Given the description of an element on the screen output the (x, y) to click on. 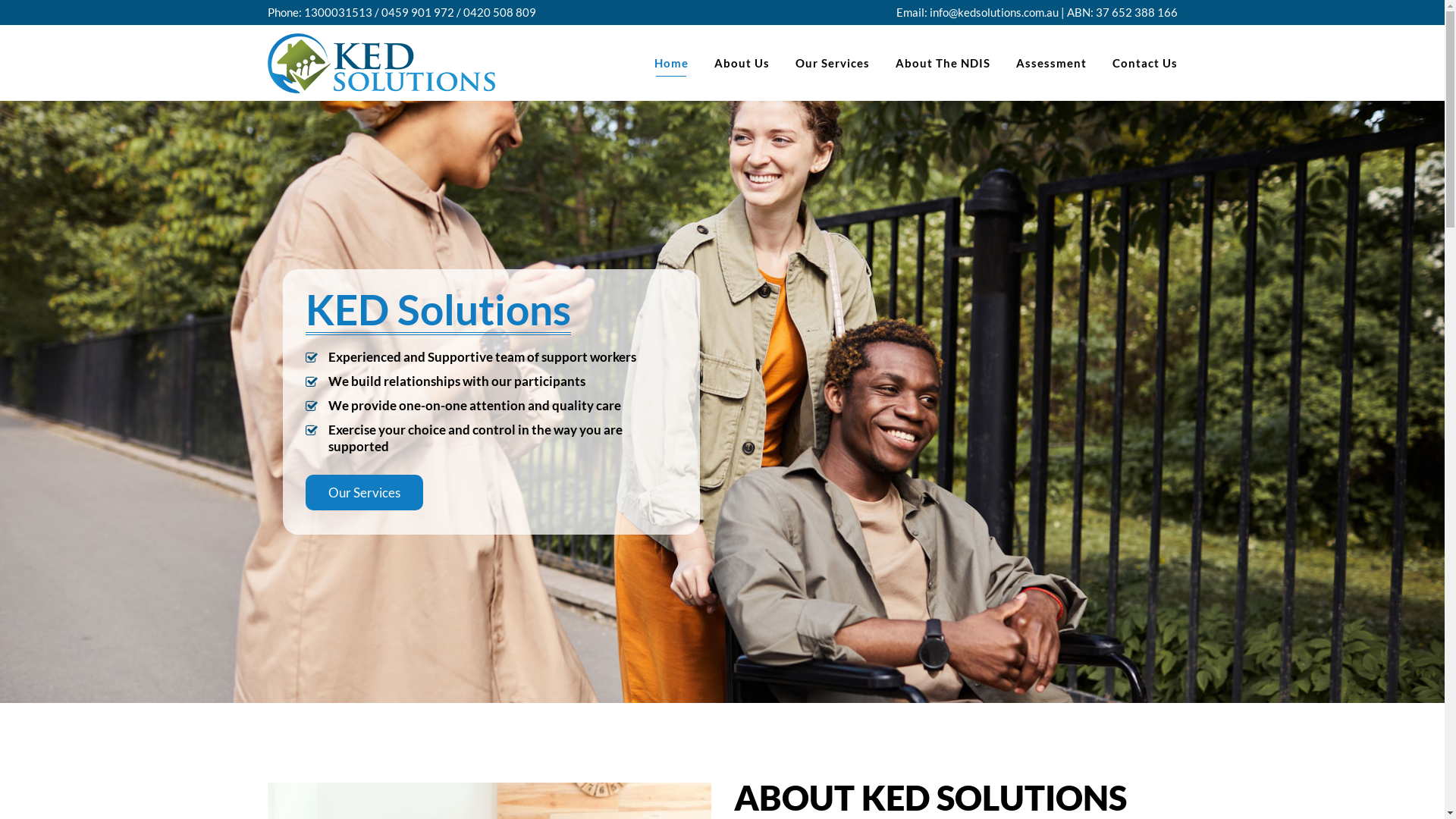
About Us Element type: text (740, 62)
Our Services Element type: text (833, 496)
1300031513 Element type: text (337, 11)
Home Element type: text (671, 62)
0420 508 809 Element type: text (498, 11)
About The NDIS Element type: text (942, 62)
Assessment Element type: text (1050, 62)
0459 901 972 Element type: text (416, 11)
info@kedsolutions.com.au Element type: text (993, 11)
Our Services Element type: text (832, 62)
Contact Us Element type: text (1138, 62)
